Given the description of an element on the screen output the (x, y) to click on. 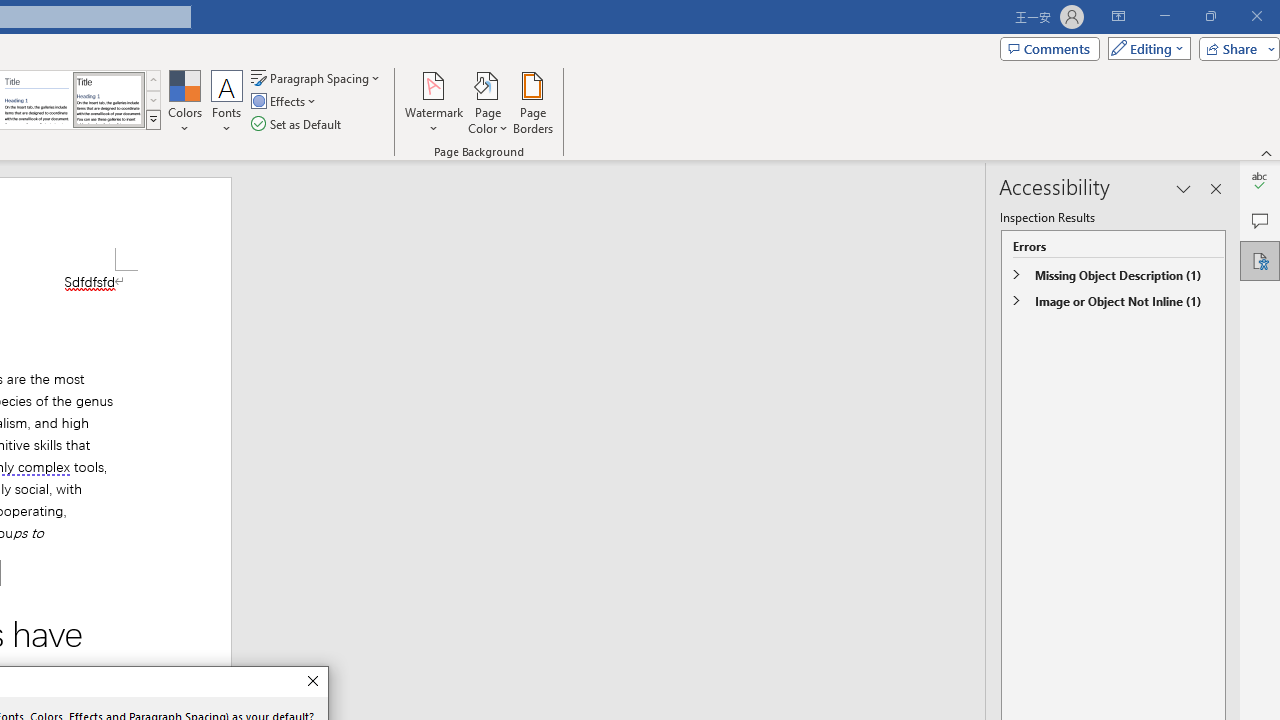
Word 2010 (36, 100)
Watermark (434, 102)
Set as Default (298, 124)
Style Set (153, 120)
Fonts (227, 102)
Accessibility (1260, 260)
